Given the description of an element on the screen output the (x, y) to click on. 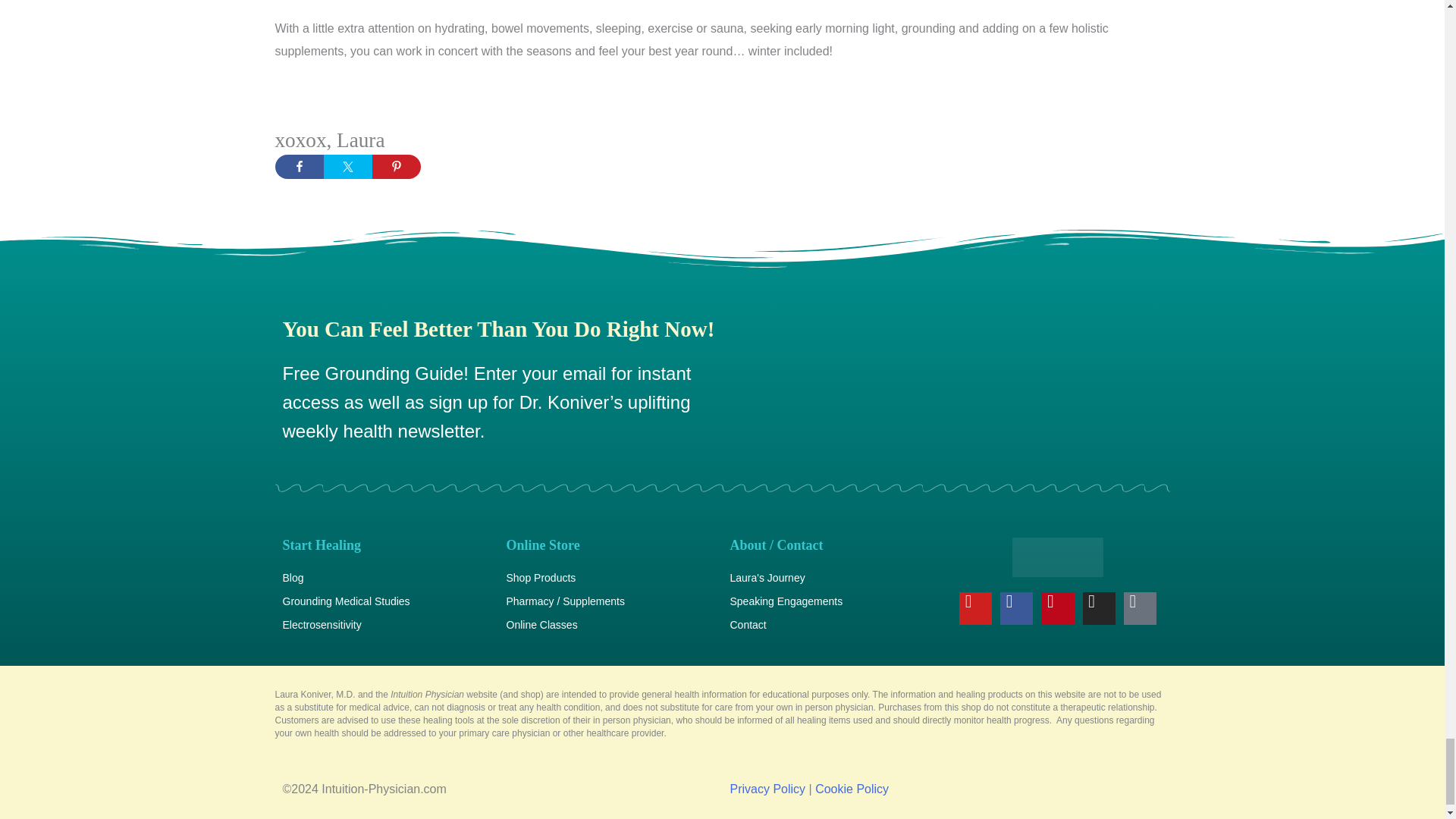
Share on Facebook (299, 166)
Share on Pinterest (395, 166)
Share on Twitter (347, 166)
